Given the description of an element on the screen output the (x, y) to click on. 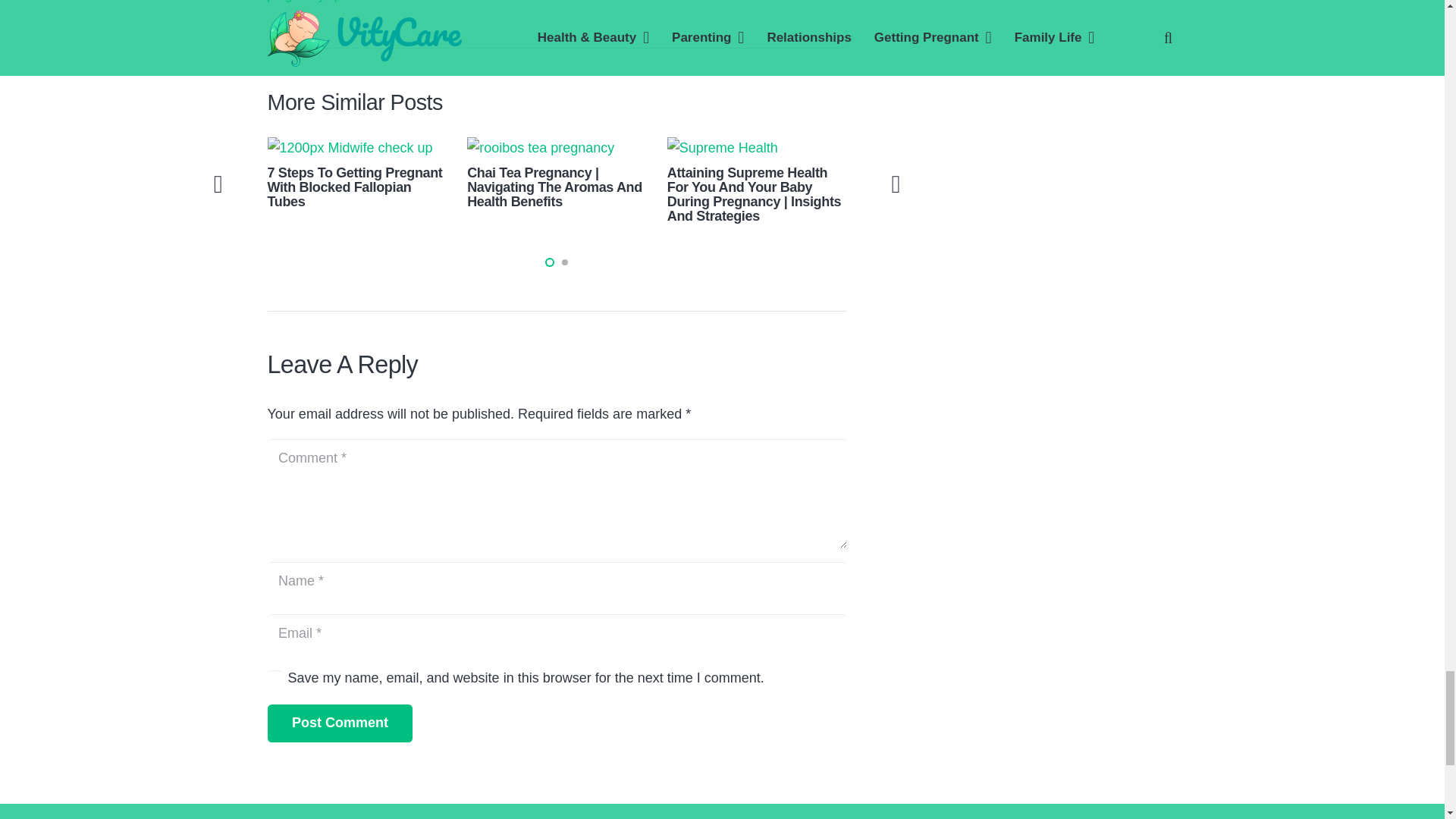
1 (274, 677)
